Given the description of an element on the screen output the (x, y) to click on. 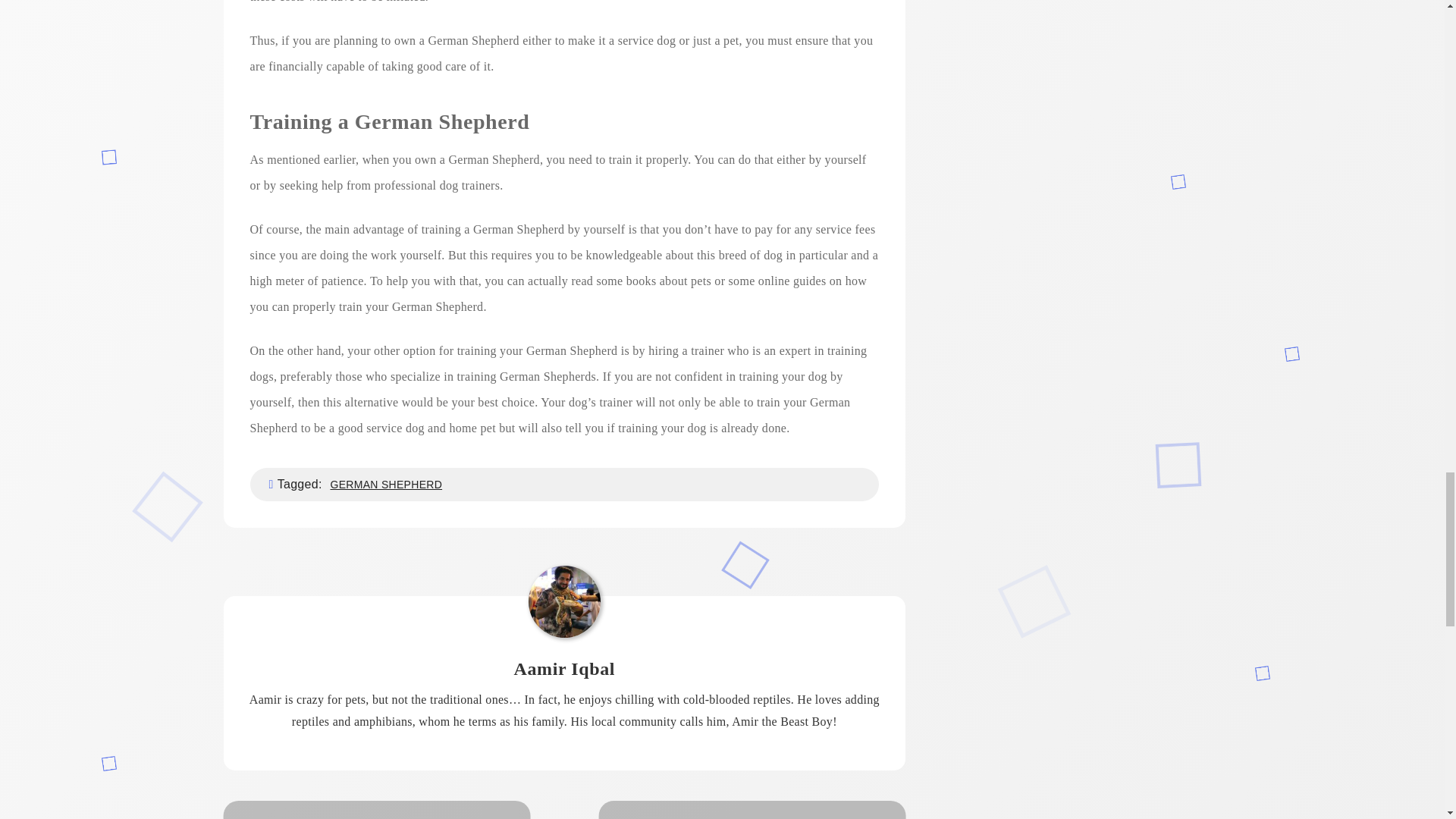
GERMAN SHEPHERD (384, 484)
Aamir Iqbal (564, 668)
Why Do German Shepherds Jump (751, 809)
Are Huskies Good Service Dogs? (375, 809)
